Given the description of an element on the screen output the (x, y) to click on. 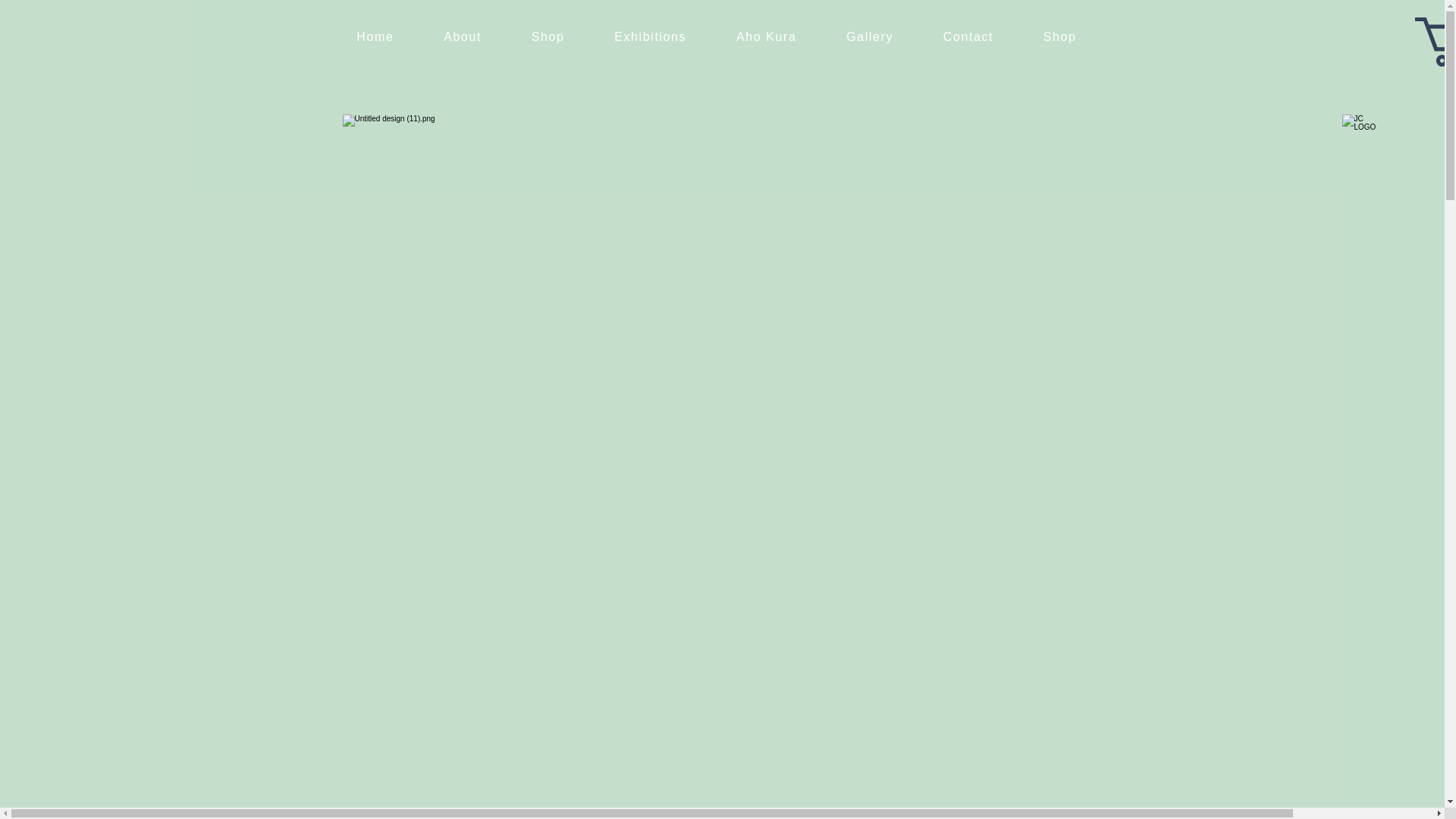
Aho Kura (766, 36)
About (462, 36)
Contact (967, 36)
Shop (1060, 36)
Home (375, 36)
Shop (547, 36)
Exhibitions (649, 36)
Gallery (869, 36)
